Given the description of an element on the screen output the (x, y) to click on. 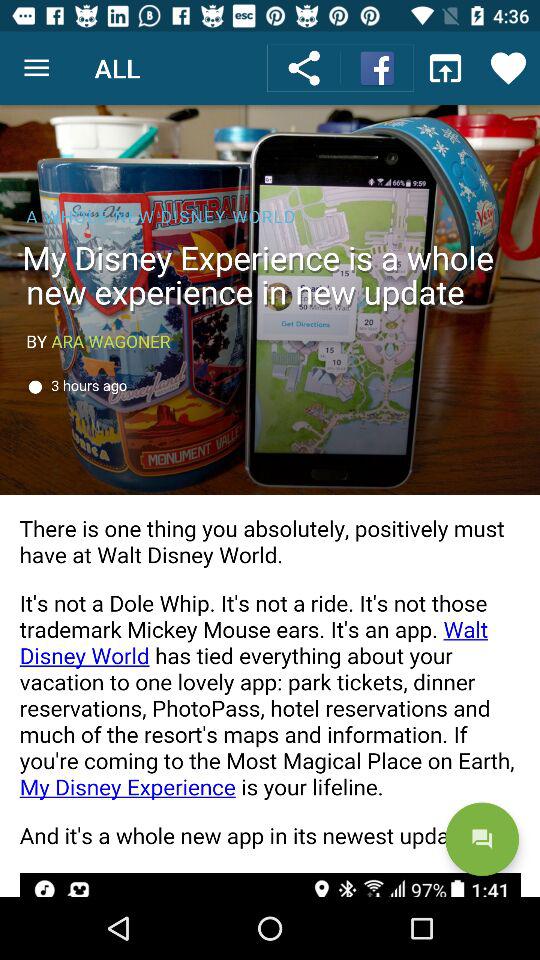
article with image text and hyperlinks (270, 501)
